Given the description of an element on the screen output the (x, y) to click on. 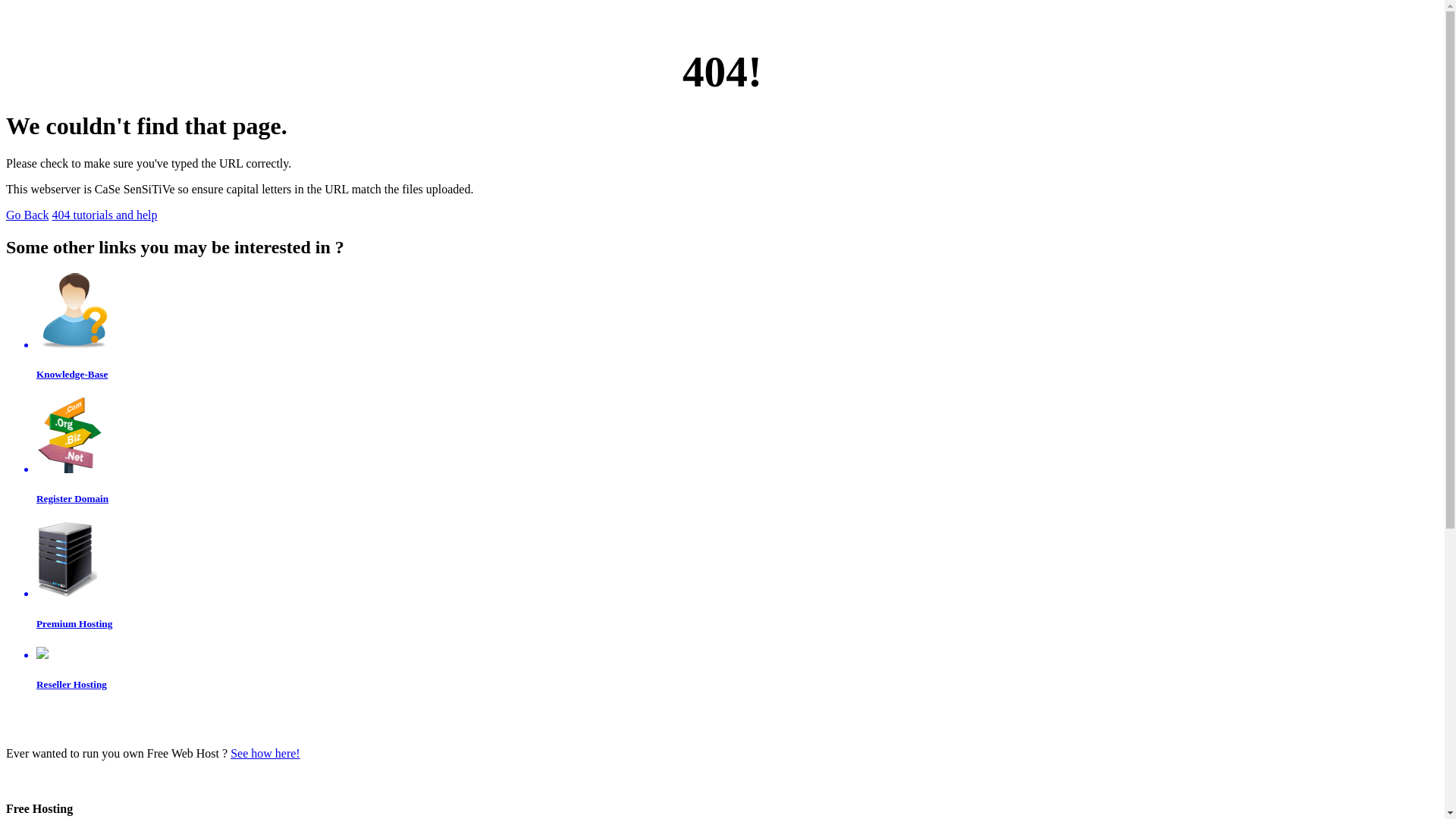
Go Back Element type: text (27, 214)
See how here! Element type: text (265, 752)
Register Domain Element type: text (737, 451)
Knowledge-Base Element type: text (737, 326)
Reseller Hosting Element type: text (737, 668)
404 tutorials and help Element type: text (103, 214)
Premium Hosting Element type: text (737, 575)
